Given the description of an element on the screen output the (x, y) to click on. 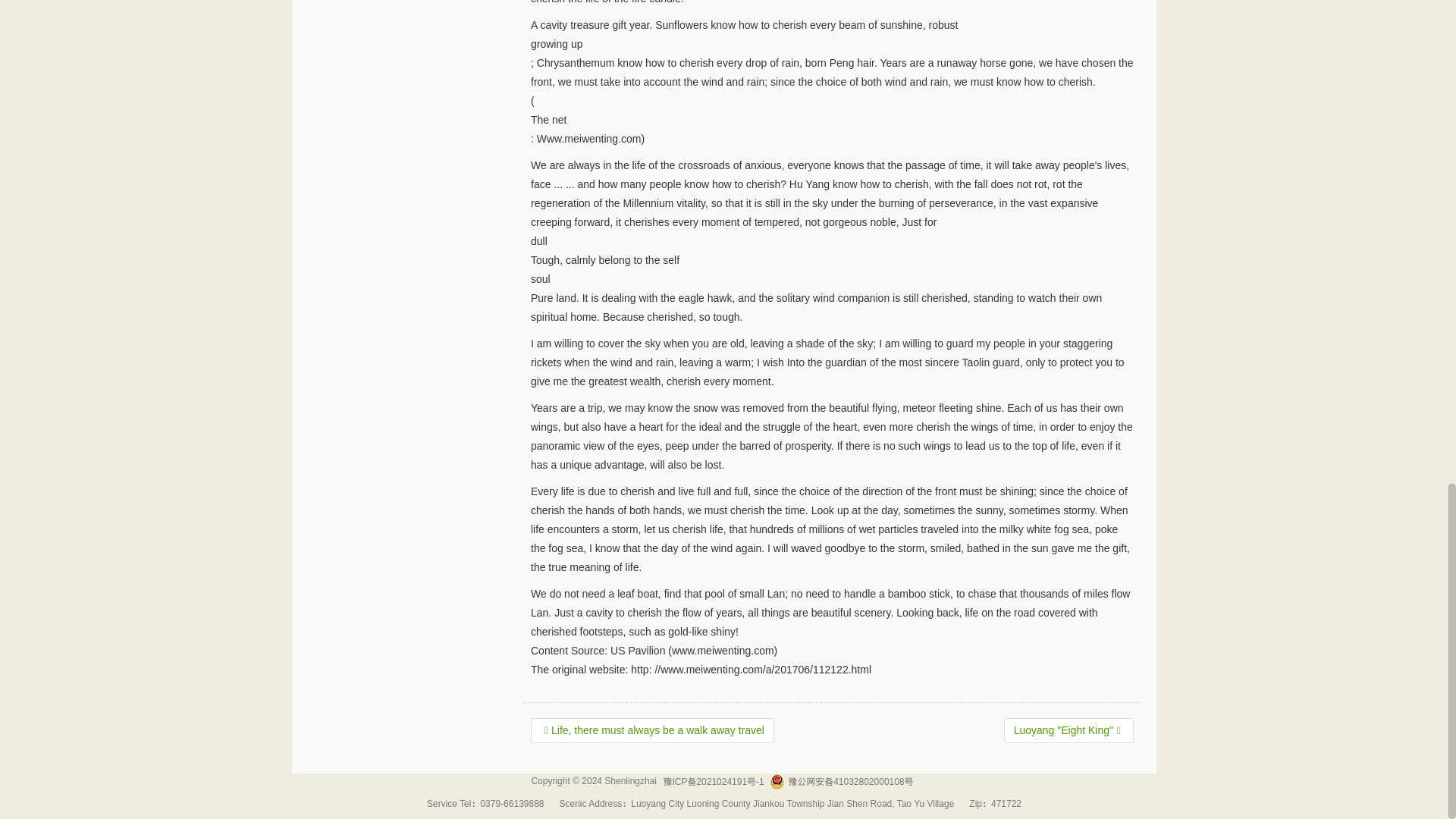
Life, there must always be a walk away travel (652, 730)
Luoyang "Eight King" (1069, 730)
